Given the description of an element on the screen output the (x, y) to click on. 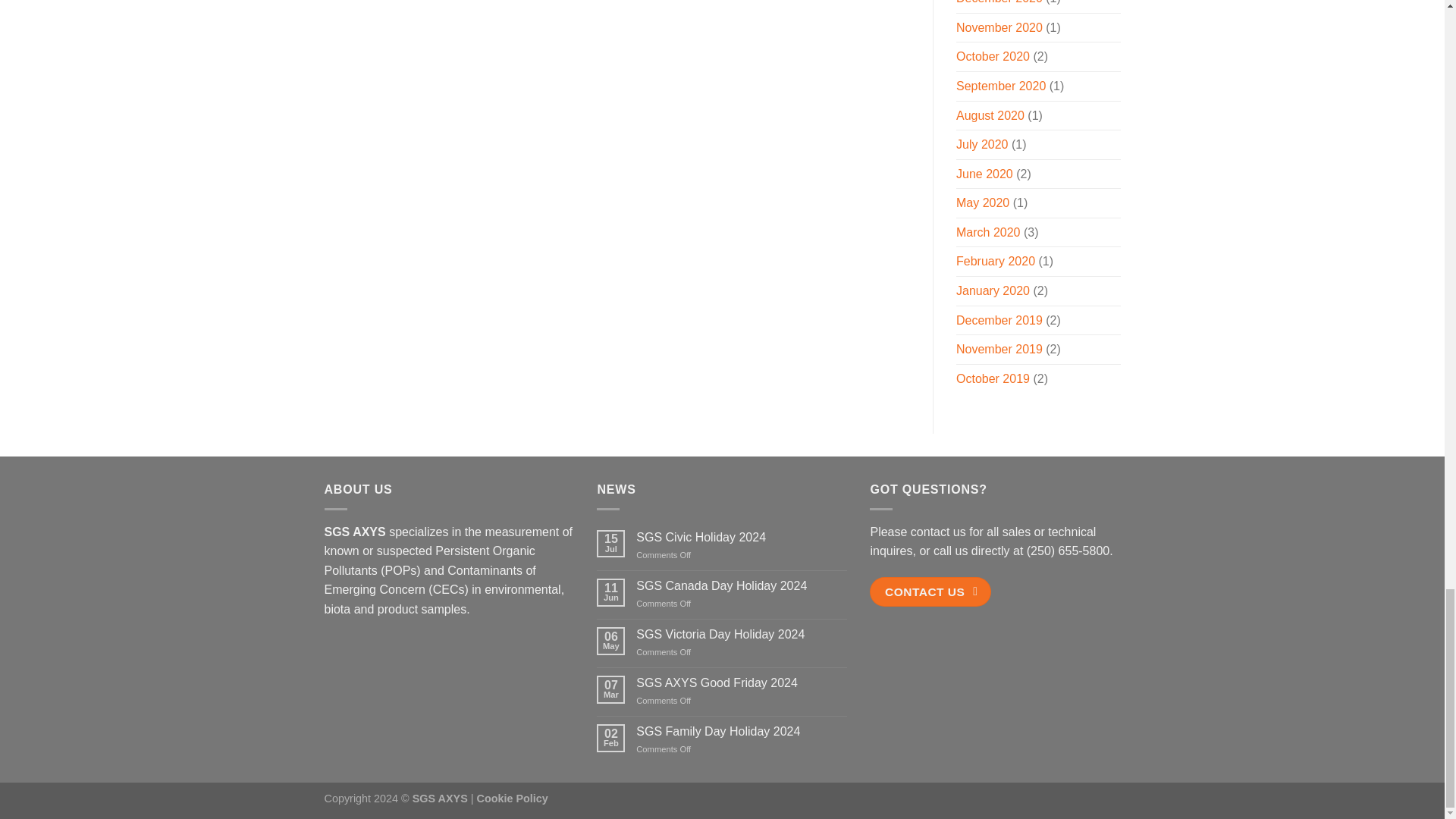
SGS Victoria Day Holiday 2024 (741, 634)
SGS Civic Holiday 2024 (741, 536)
SGS AXYS Good Friday 2024 (741, 682)
SGS Canada Day Holiday 2024 (741, 585)
SGS Family Day Holiday 2024 (741, 730)
